Given the description of an element on the screen output the (x, y) to click on. 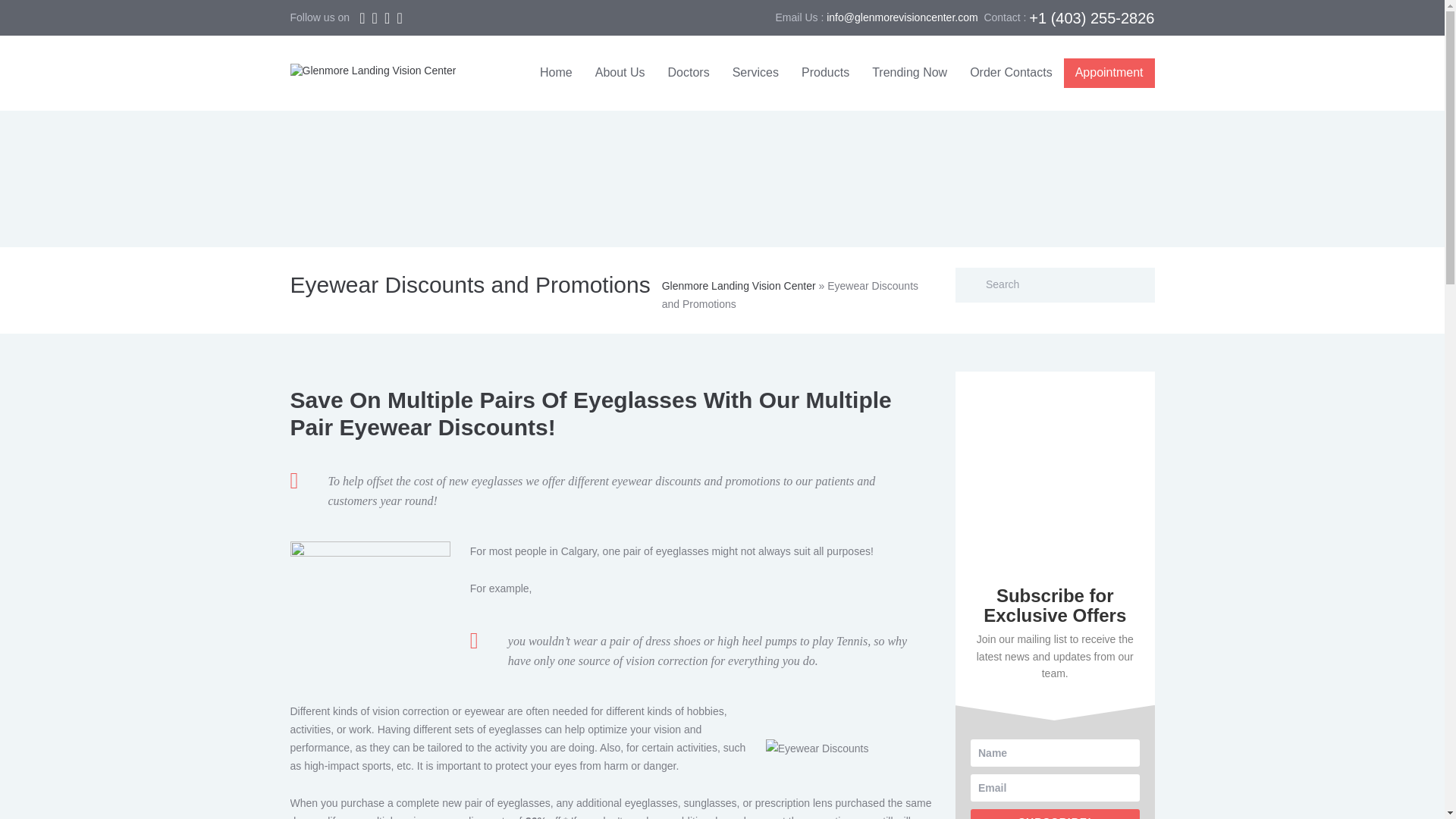
About Us (619, 72)
Products (825, 72)
Services (755, 72)
Doctors (688, 72)
Home (555, 72)
